Given the description of an element on the screen output the (x, y) to click on. 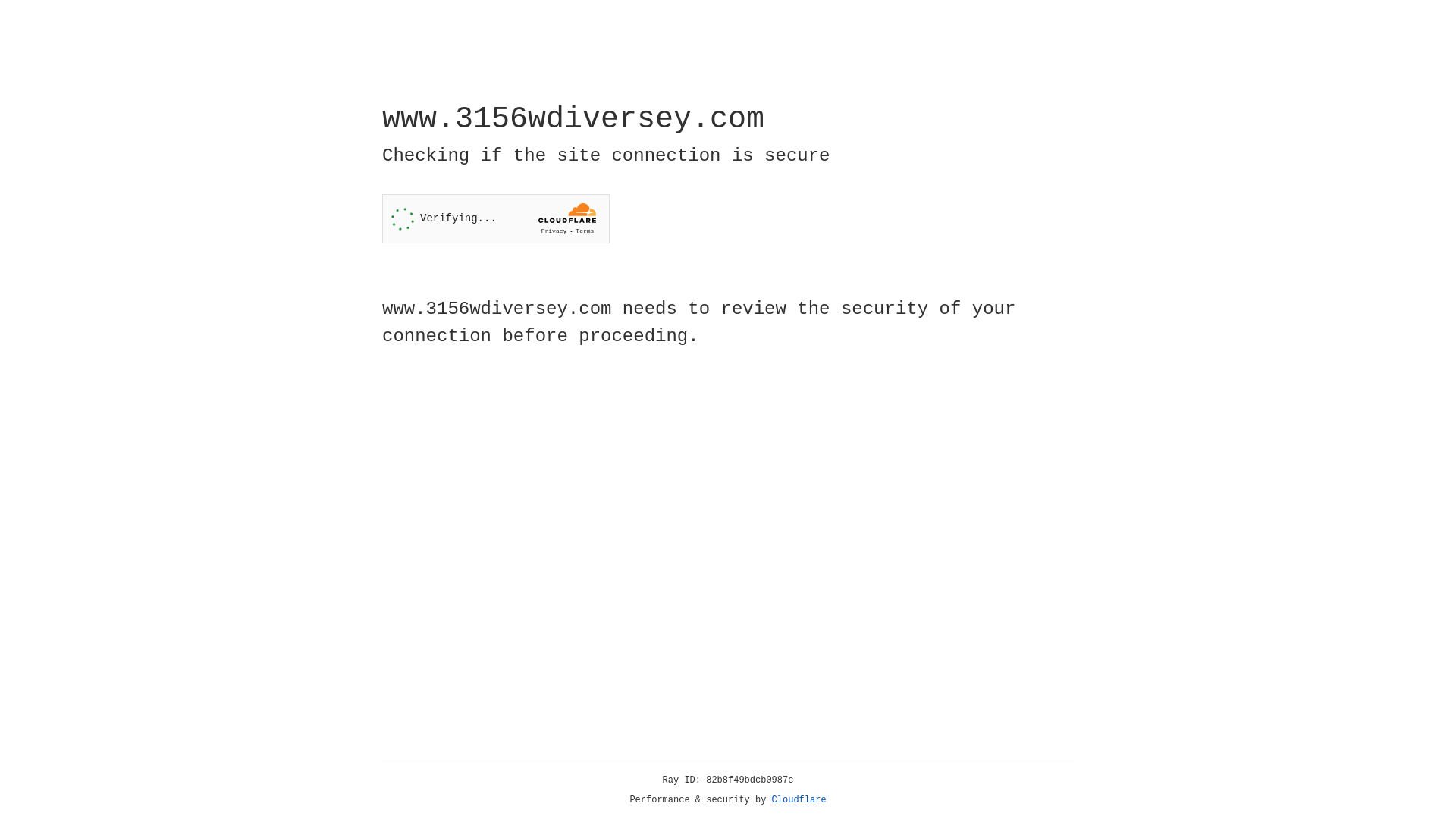
Cloudflare Element type: text (798, 799)
Widget containing a Cloudflare security challenge Element type: hover (495, 218)
